Given the description of an element on the screen output the (x, y) to click on. 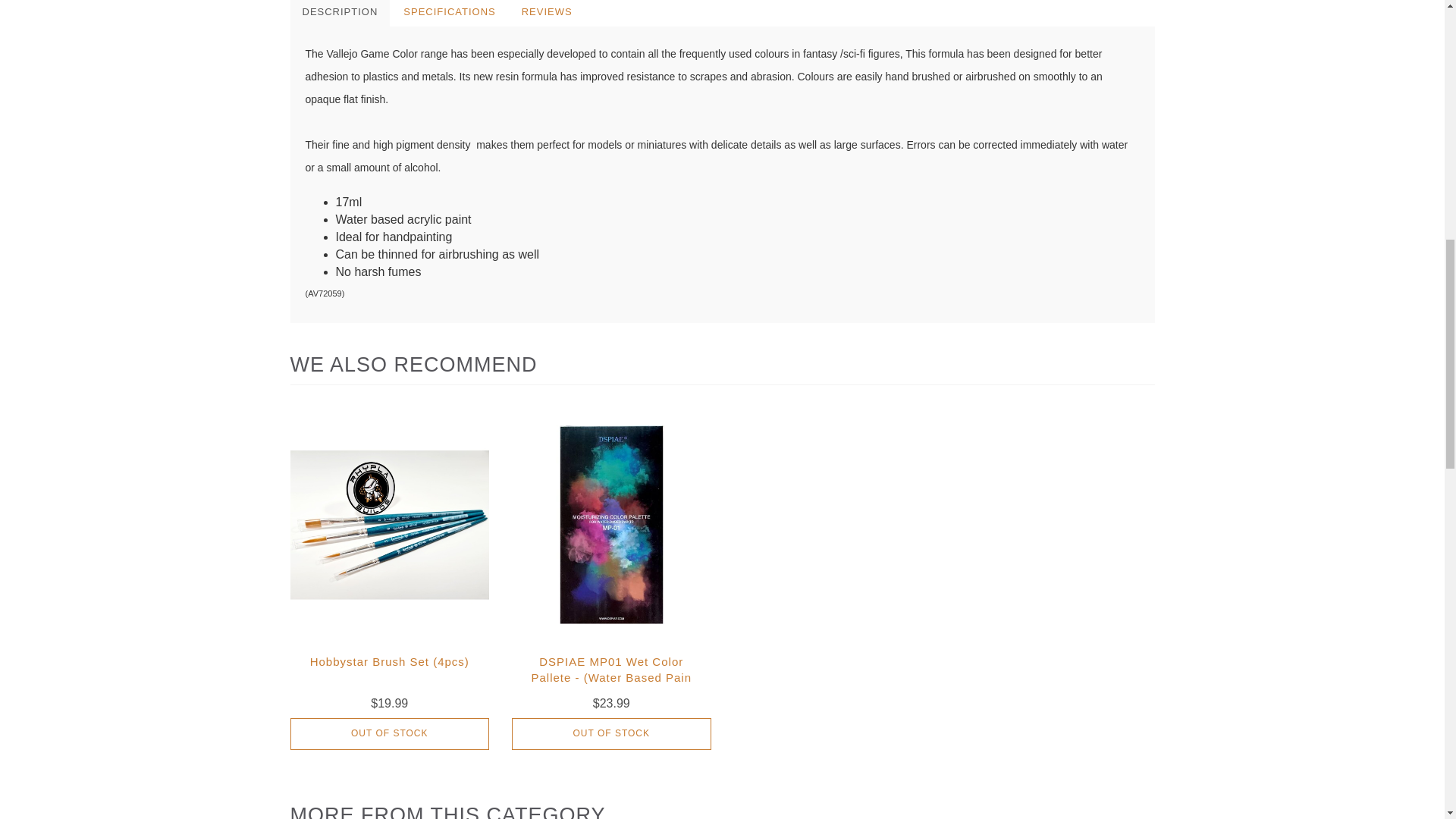
Notify Me When Back In Stock (611, 734)
Notify Me When Back In Stock (389, 734)
